Given the description of an element on the screen output the (x, y) to click on. 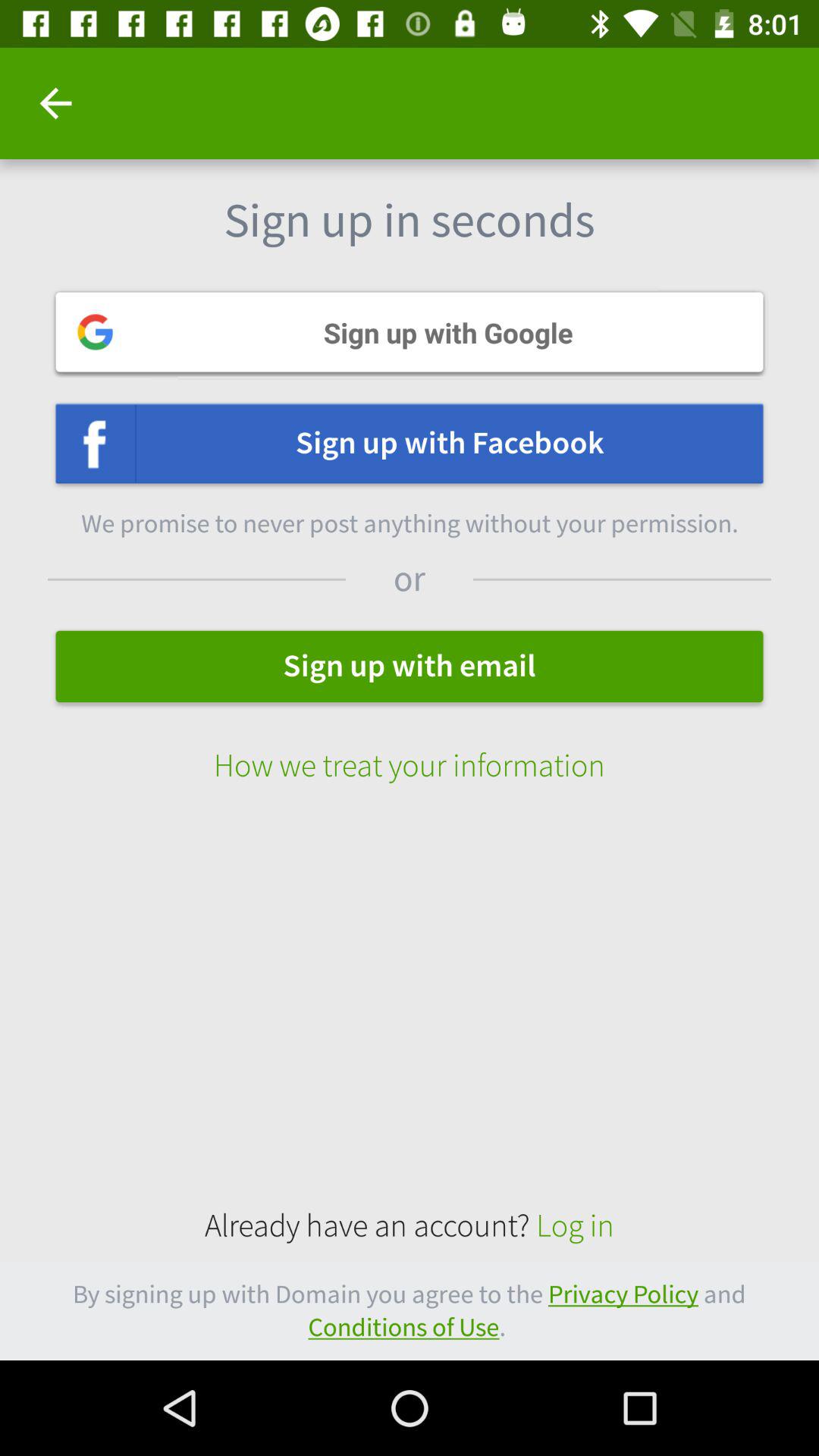
turn on item above by signing up icon (409, 1226)
